Given the description of an element on the screen output the (x, y) to click on. 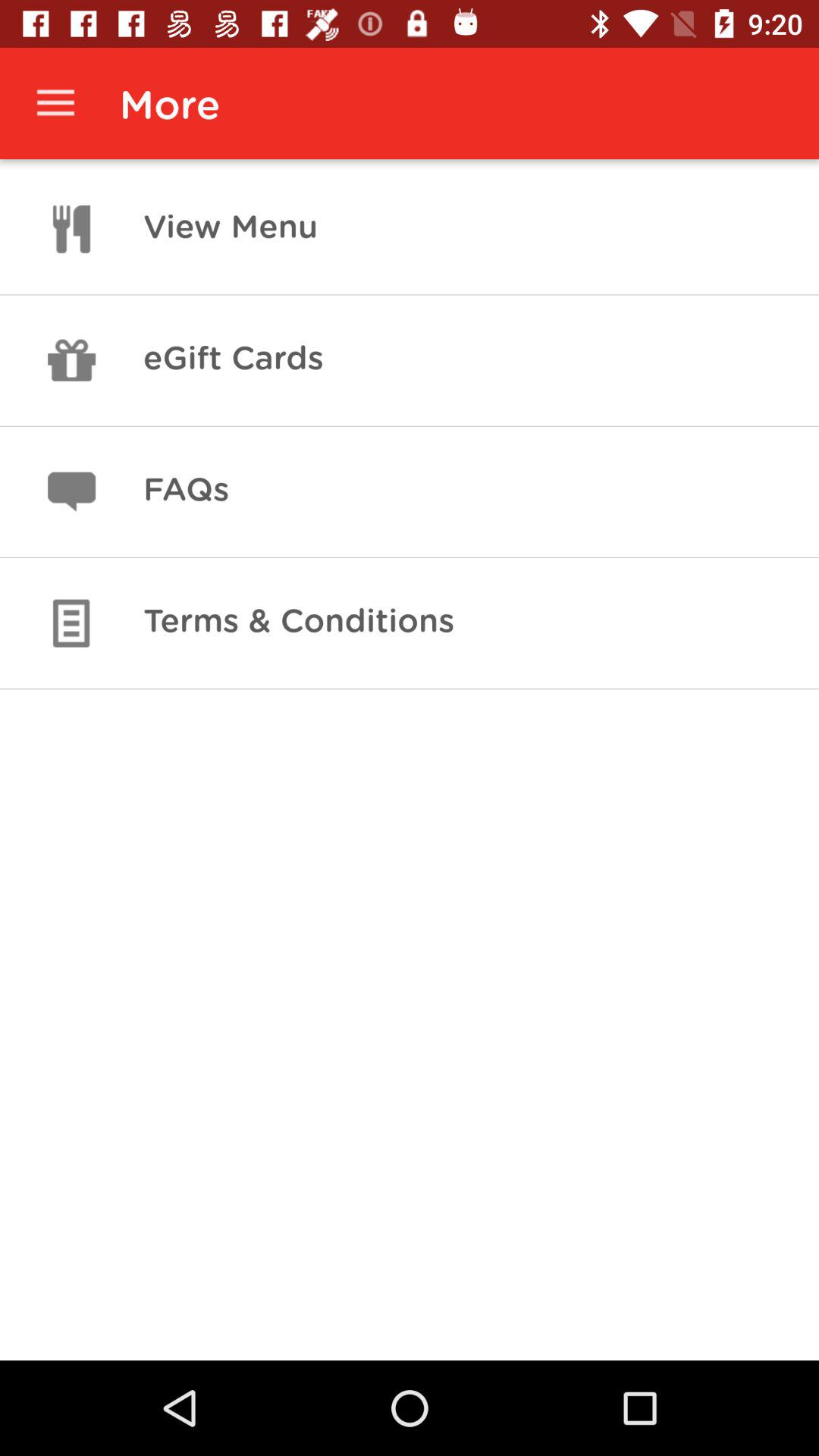
choose icon next to more item (55, 103)
